Given the description of an element on the screen output the (x, y) to click on. 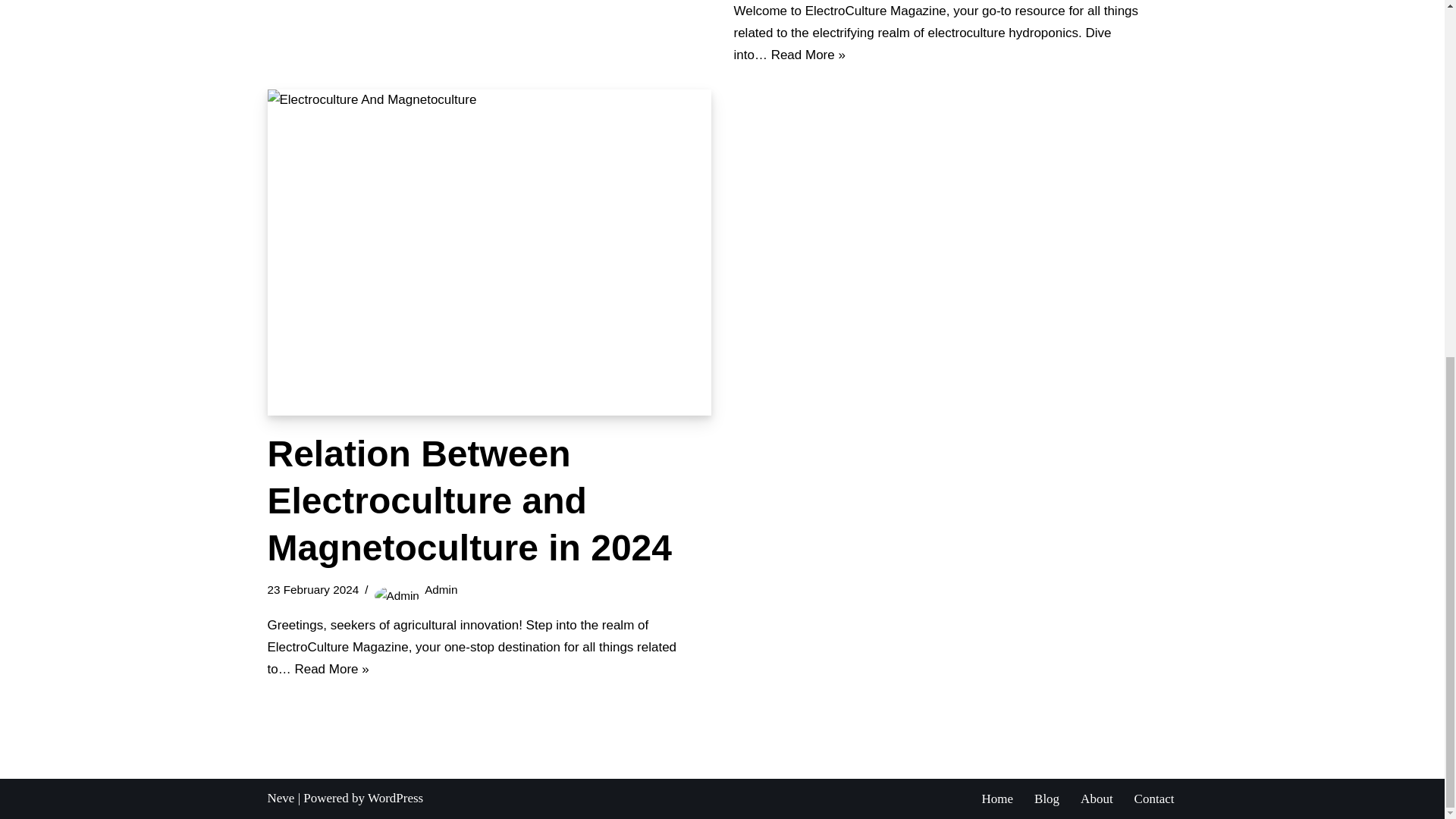
Neve (280, 798)
Admin (441, 589)
Posts by Admin (441, 589)
WordPress (395, 798)
Relation Between Electroculture and Magnetoculture in 2024 (468, 501)
